Given the description of an element on the screen output the (x, y) to click on. 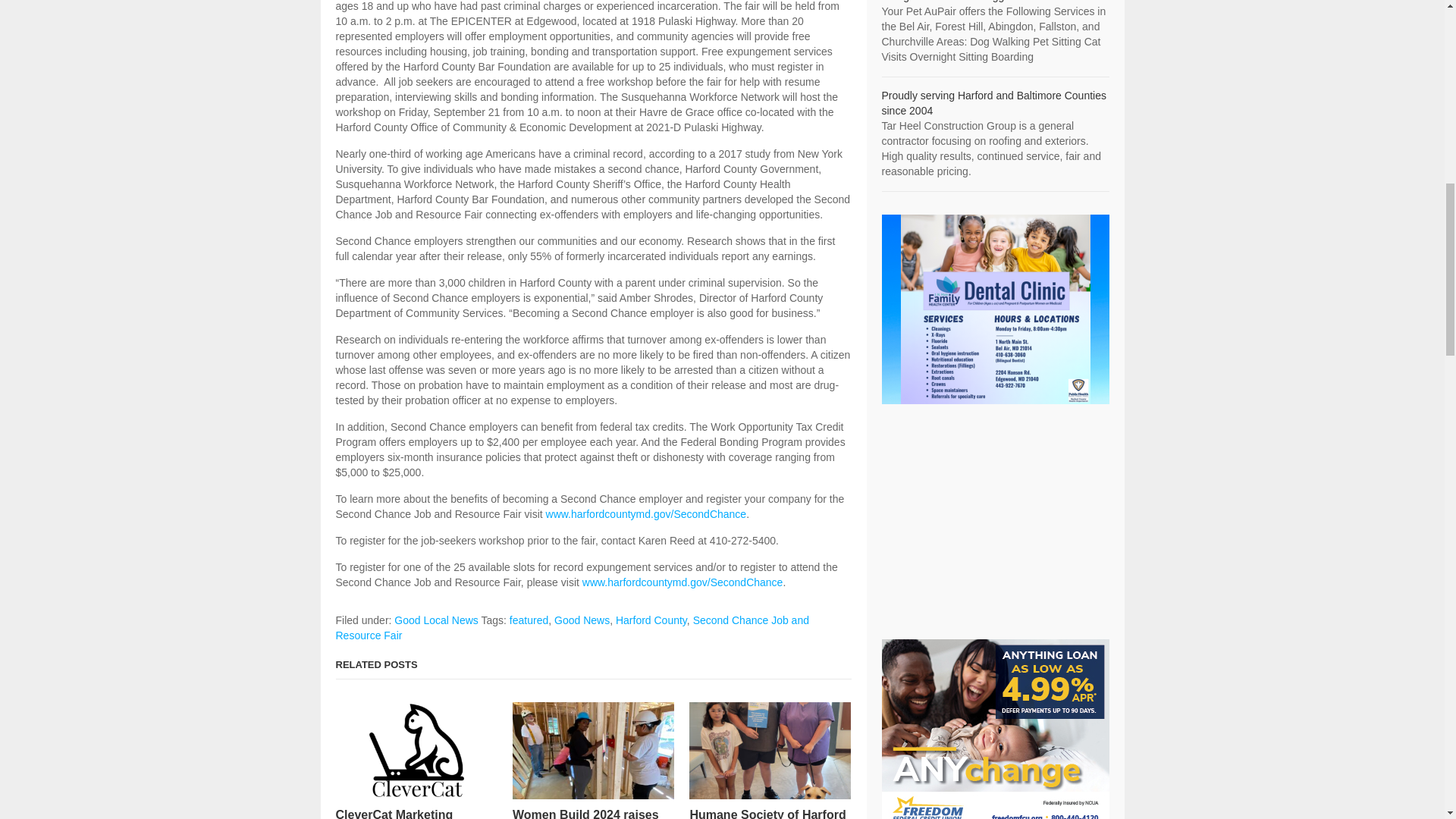
Tar Heel Construction Group (992, 103)
Your Pet AuPair (948, 1)
Good Local News (436, 620)
3rd party ad content (994, 521)
featured (528, 620)
Good News (582, 620)
Harford County (651, 620)
Second Chance Job and Resource Fair (571, 627)
